Given the description of an element on the screen output the (x, y) to click on. 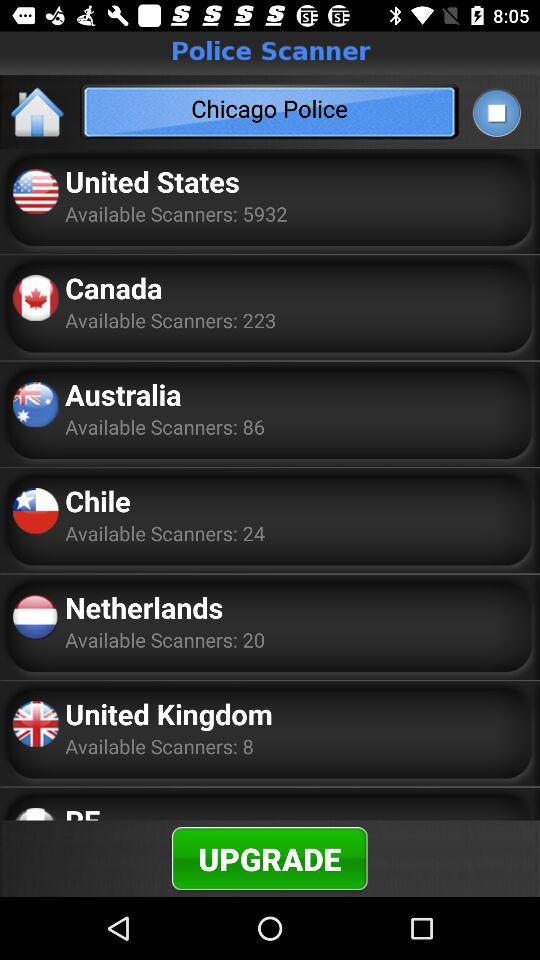
open pe icon (82, 810)
